Given the description of an element on the screen output the (x, y) to click on. 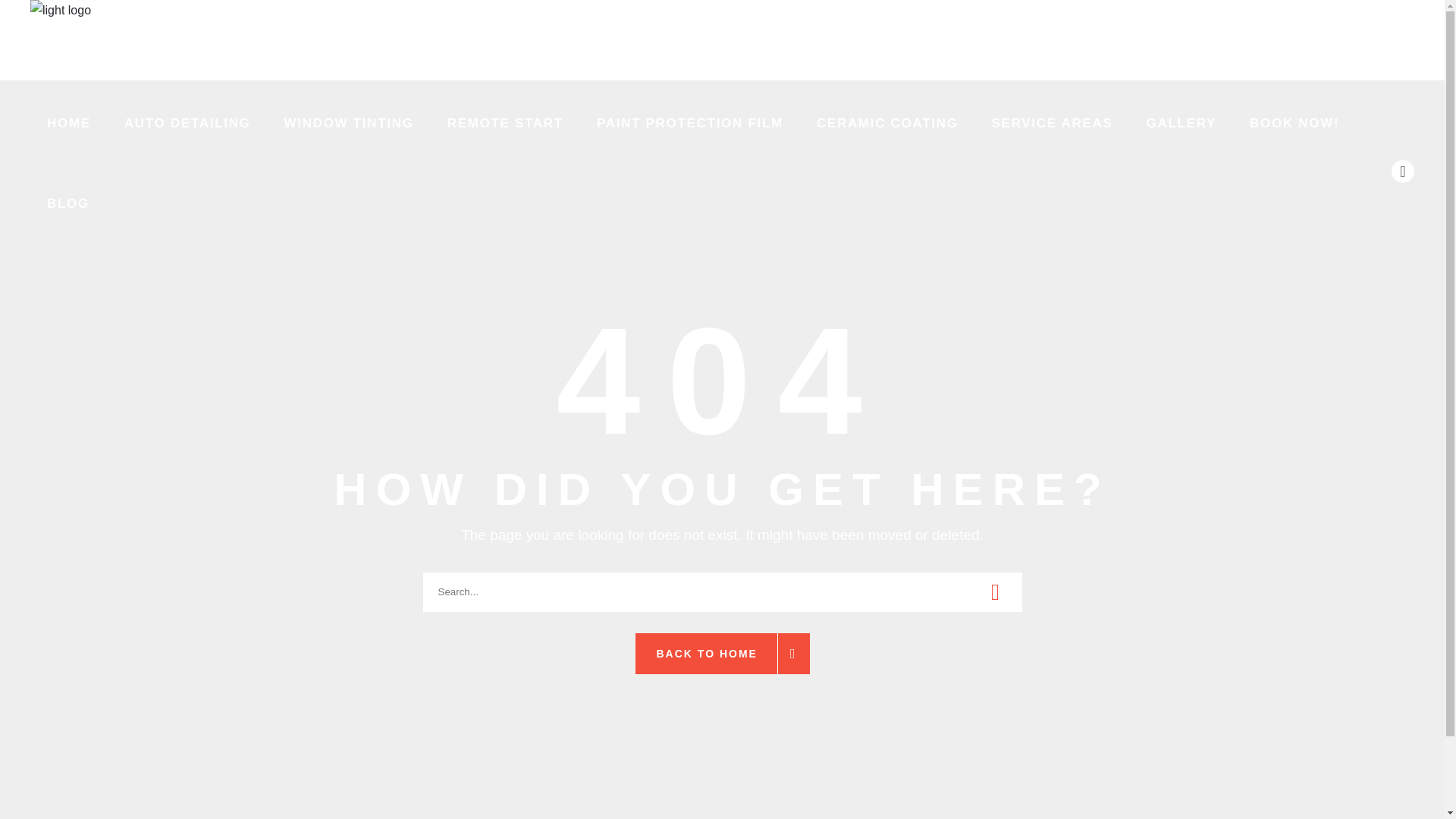
AUTO DETAILING (187, 120)
BLOG (68, 200)
REMOTE START (504, 120)
PAINT PROTECTION FILM (689, 120)
Search for: (722, 590)
BOOK NOW! (1294, 120)
CERAMIC COATING (887, 120)
HOME (68, 120)
WINDOW TINTING (348, 120)
SERVICE AREAS (1052, 120)
GALLERY (1181, 120)
